Given the description of an element on the screen output the (x, y) to click on. 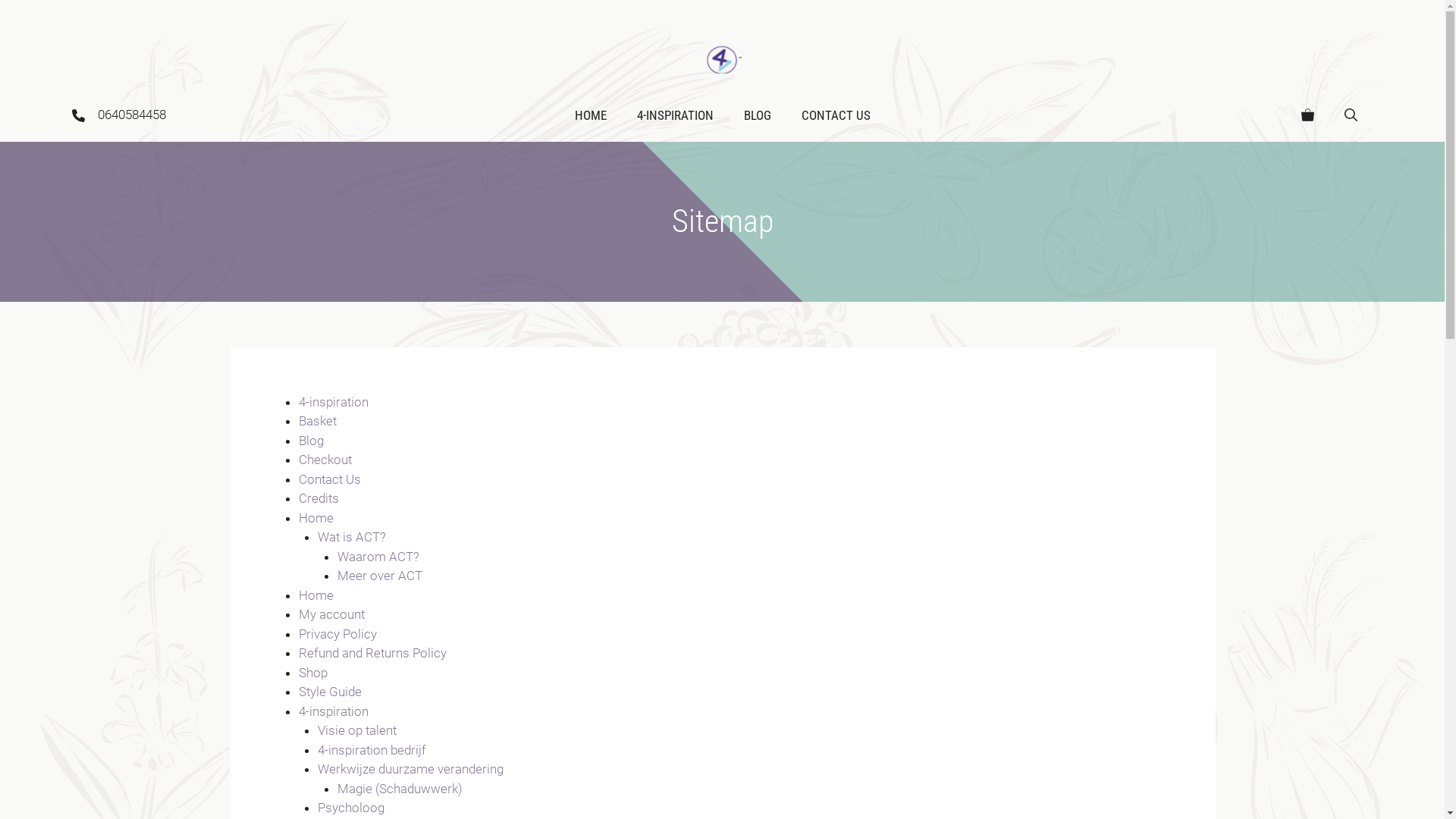
Psycholoog Element type: text (350, 807)
Waarom ACT? Element type: text (377, 556)
Home Element type: text (315, 594)
Credits Element type: text (318, 497)
Shop Element type: text (312, 672)
Meer over ACT Element type: text (378, 575)
My account Element type: text (331, 613)
BLOG Element type: text (756, 114)
4-inspiration Element type: text (333, 710)
Privacy Policy Element type: text (337, 633)
4-INSPIRATION Element type: text (674, 114)
Checkout Element type: text (324, 459)
Blog Element type: text (310, 440)
Wat is ACT? Element type: text (351, 536)
View your shopping cart Element type: hover (1307, 114)
Refund and Returns Policy Element type: text (372, 652)
Visie op talent Element type: text (356, 729)
HOME Element type: text (590, 114)
Contact Us Element type: text (329, 478)
Werkwijze duurzame verandering Element type: text (410, 768)
4-inspiration bedrijf Element type: text (371, 749)
Home Element type: text (315, 517)
Magie (Schaduwwerk) Element type: text (398, 788)
CONTACT US Element type: text (834, 114)
4-inspiration Element type: text (333, 401)
Style Guide Element type: text (329, 691)
Basket Element type: text (317, 420)
